Given the description of an element on the screen output the (x, y) to click on. 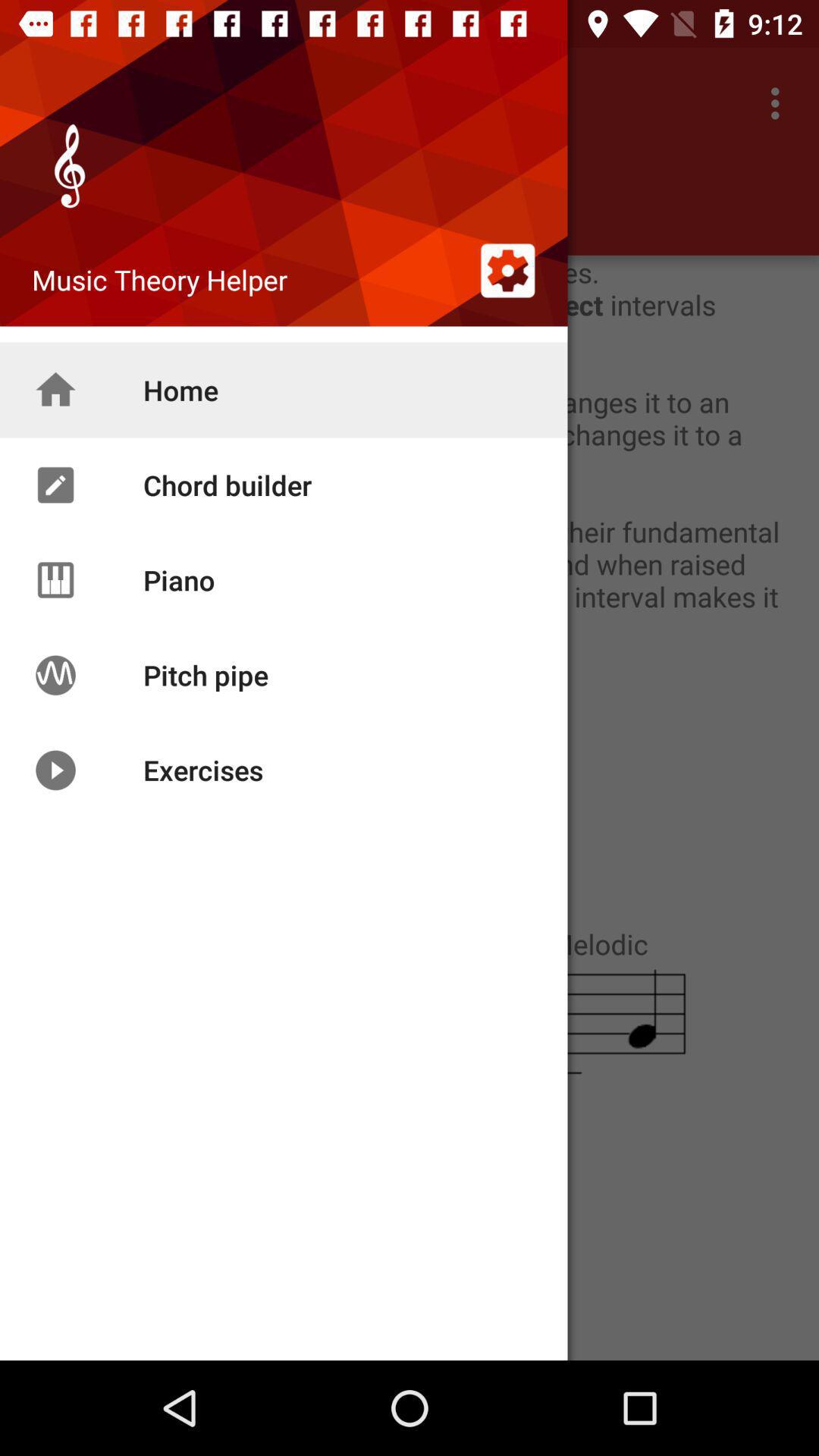
click on the icon present to the left of exercises (55, 769)
